Given the description of an element on the screen output the (x, y) to click on. 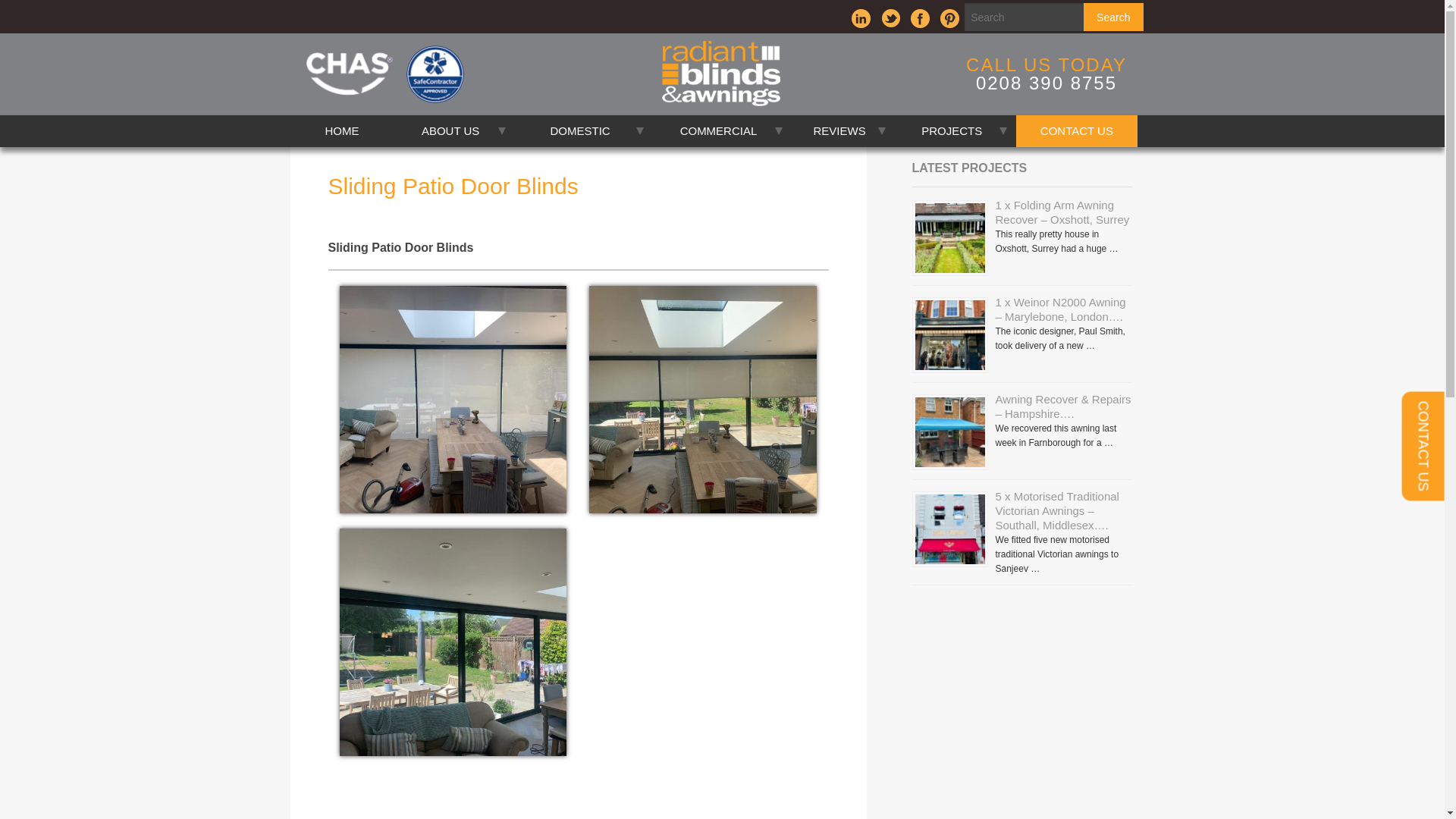
Search (1112, 17)
CHAS (349, 73)
DOMESTIC (583, 131)
Safe Contractor (435, 73)
Search (1112, 17)
ABOUT US (454, 131)
COMMERCIAL (721, 131)
HOME (341, 131)
